Given the description of an element on the screen output the (x, y) to click on. 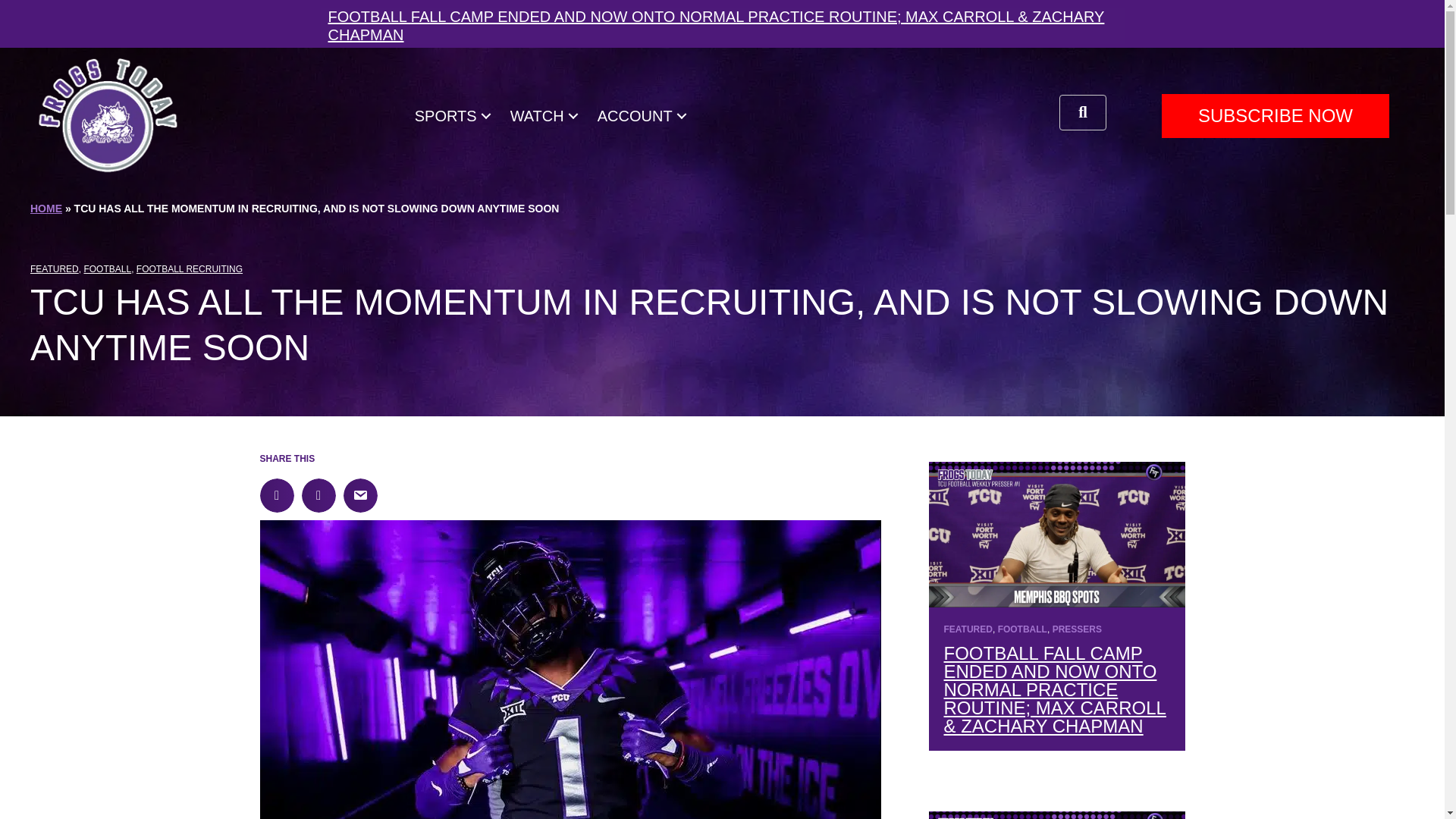
WATCH (545, 116)
SPORTS (454, 116)
ACCOUNT (643, 116)
